Given the description of an element on the screen output the (x, y) to click on. 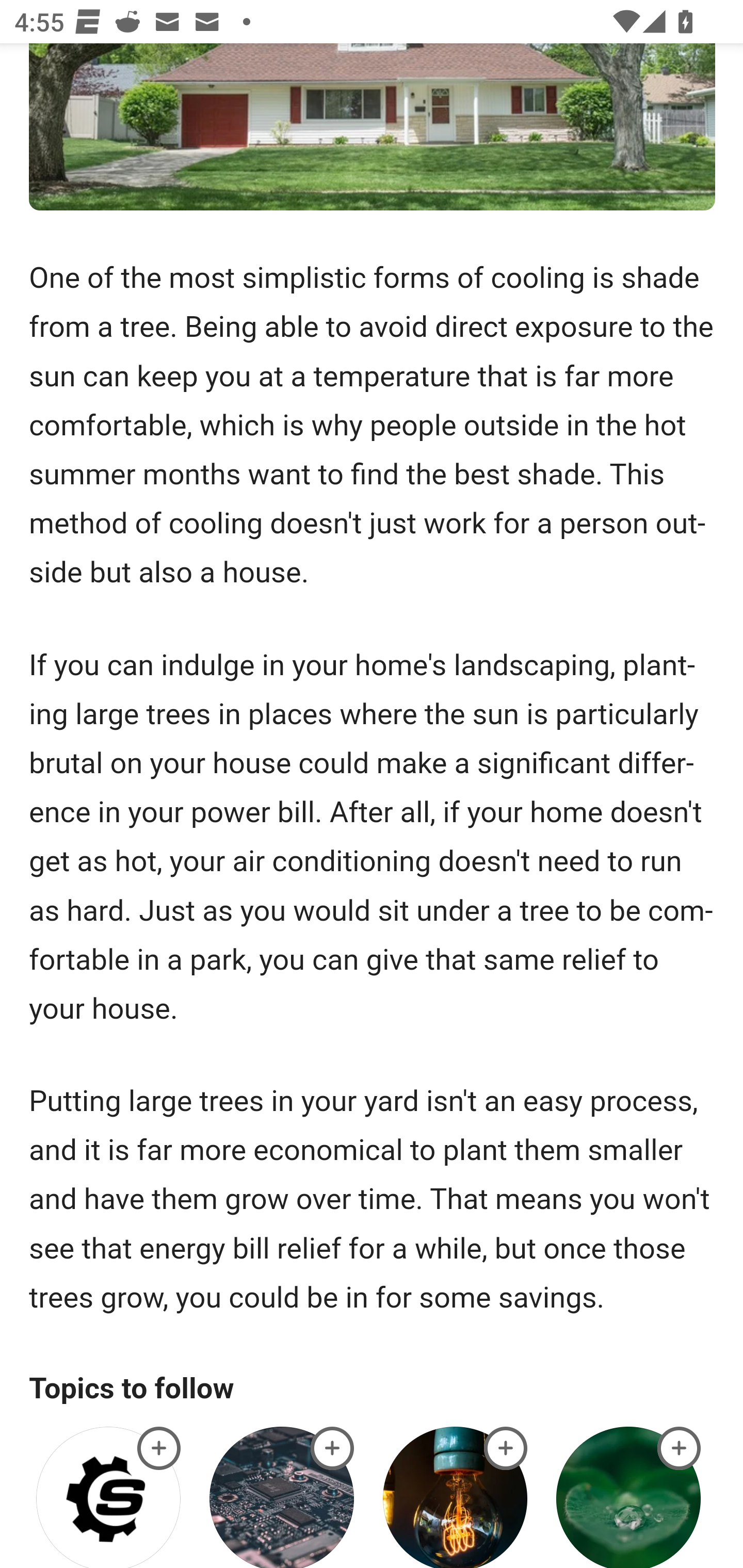
best-solar-panel-substitutes-home-energy-savings (159, 1448)
best-solar-panel-substitutes-home-energy-savings (332, 1448)
best-solar-panel-substitutes-home-energy-savings (505, 1448)
best-solar-panel-substitutes-home-energy-savings (679, 1448)
